Given the description of an element on the screen output the (x, y) to click on. 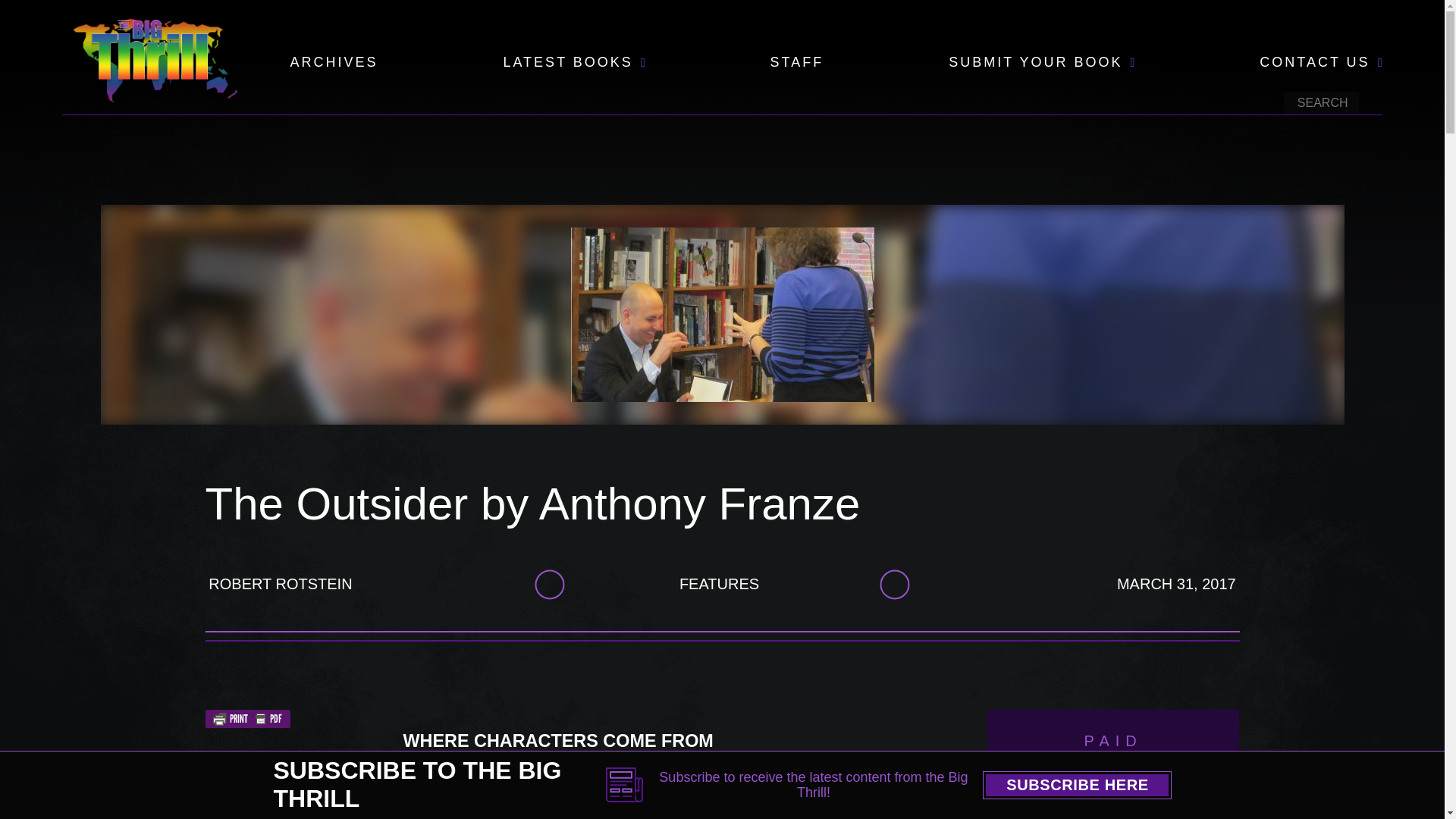
SUBMIT YOUR BOOK (1035, 62)
STAFF (797, 62)
ARCHIVES (333, 62)
CONTACT US (1314, 62)
Motive for Murder by Ray Collins (1113, 807)
LATEST BOOKS (566, 62)
